Given the description of an element on the screen output the (x, y) to click on. 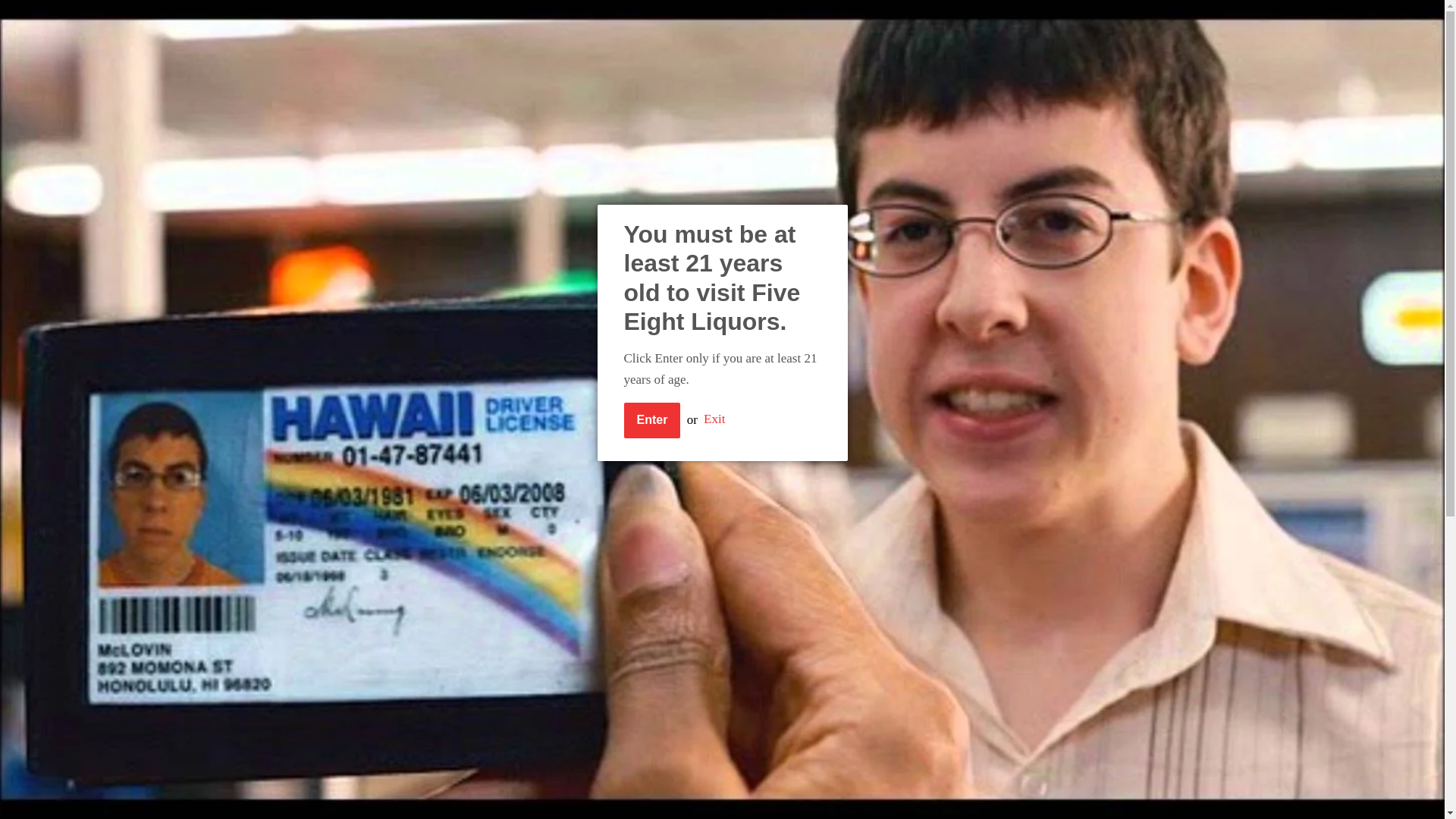
Create account (858, 18)
Enter (651, 420)
Cart (940, 18)
Search (980, 18)
Exit (714, 419)
Log in (778, 18)
Back to the frontpage (370, 163)
